Given the description of an element on the screen output the (x, y) to click on. 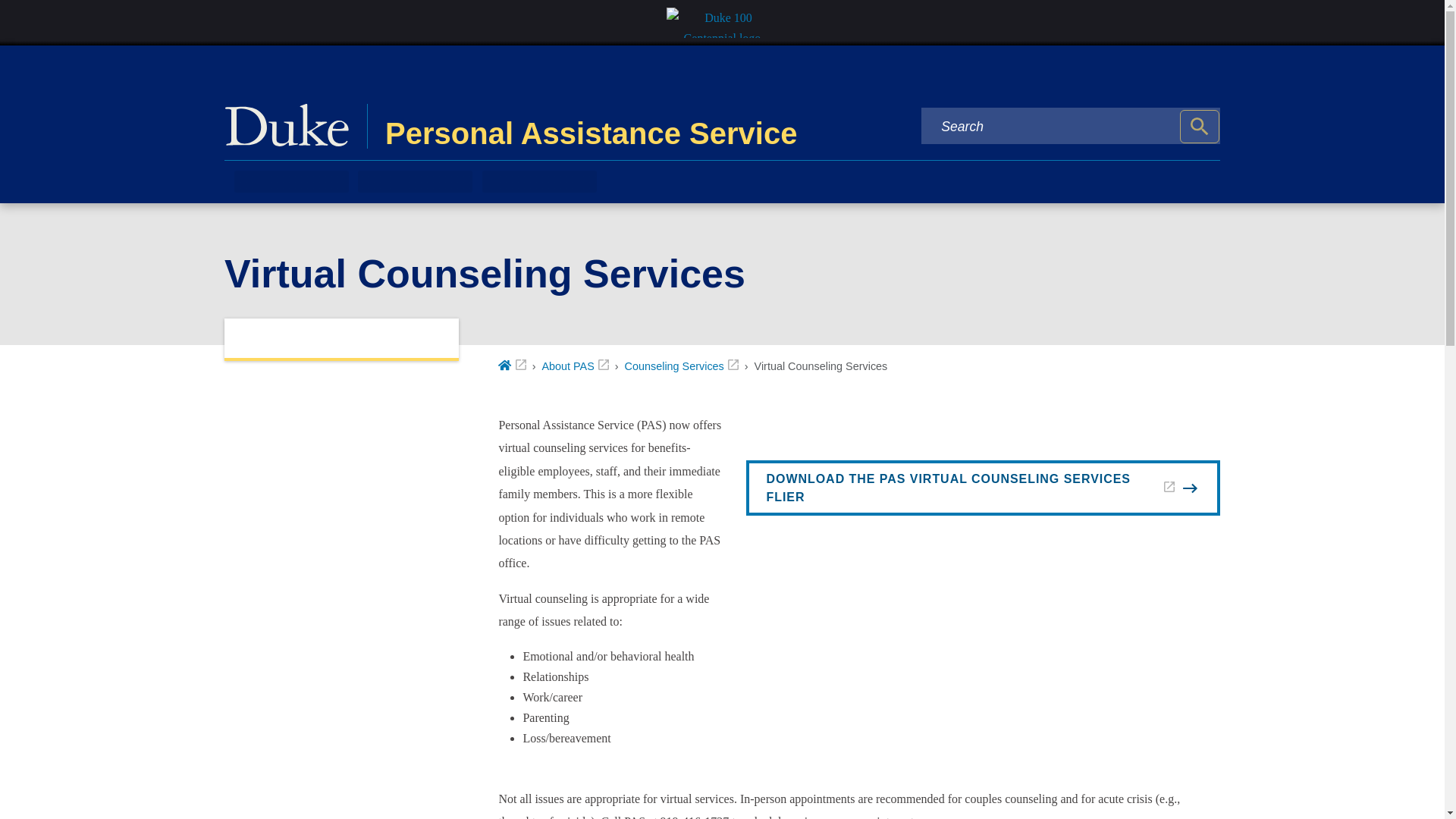
Counseling Services (681, 366)
Personal Assistance Service (547, 126)
Home (511, 366)
About PAS (574, 366)
DOWNLOAD THE PAS VIRTUAL COUNSELING SERVICES FLIER (982, 488)
